Given the description of an element on the screen output the (x, y) to click on. 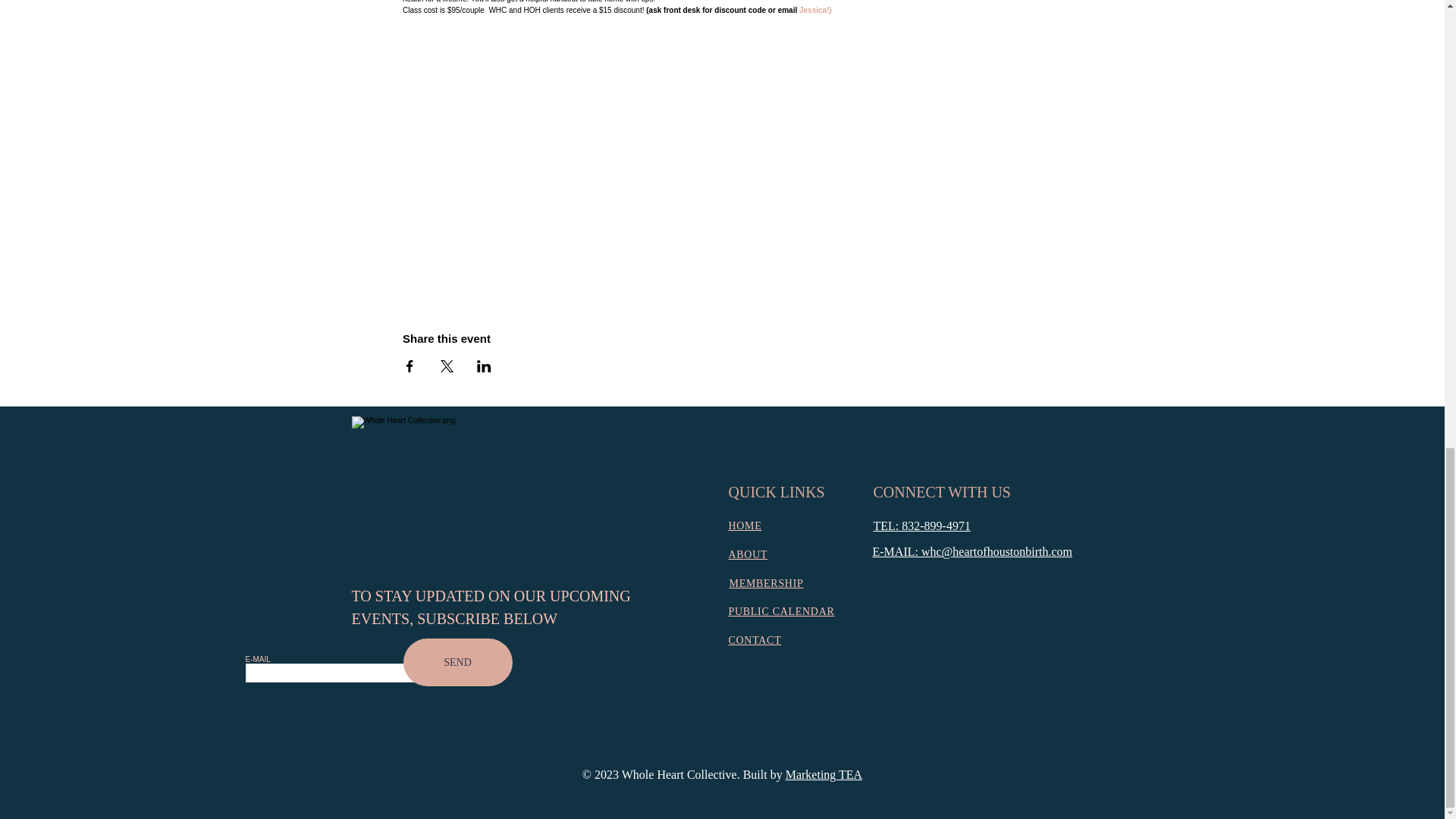
Marketing TEA (823, 774)
CONTACT (754, 640)
HOME (744, 525)
PUBLIC CALENDAR (781, 611)
MEMBERSHIP (766, 583)
ABOUT (747, 554)
SEND (457, 662)
TEL: 832-899-4971 (922, 525)
